Given the description of an element on the screen output the (x, y) to click on. 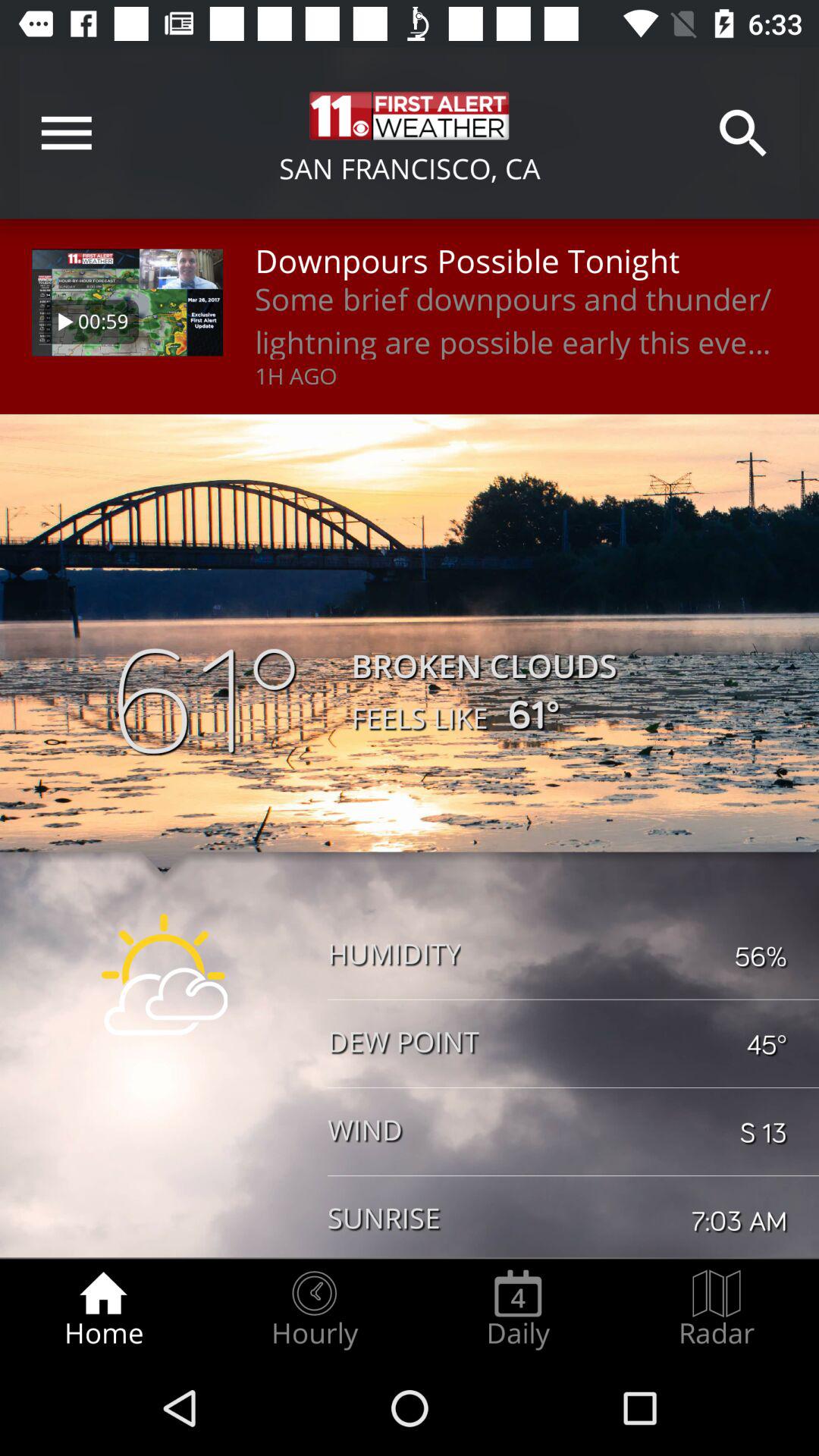
turn on radio button next to the daily (716, 1309)
